Given the description of an element on the screen output the (x, y) to click on. 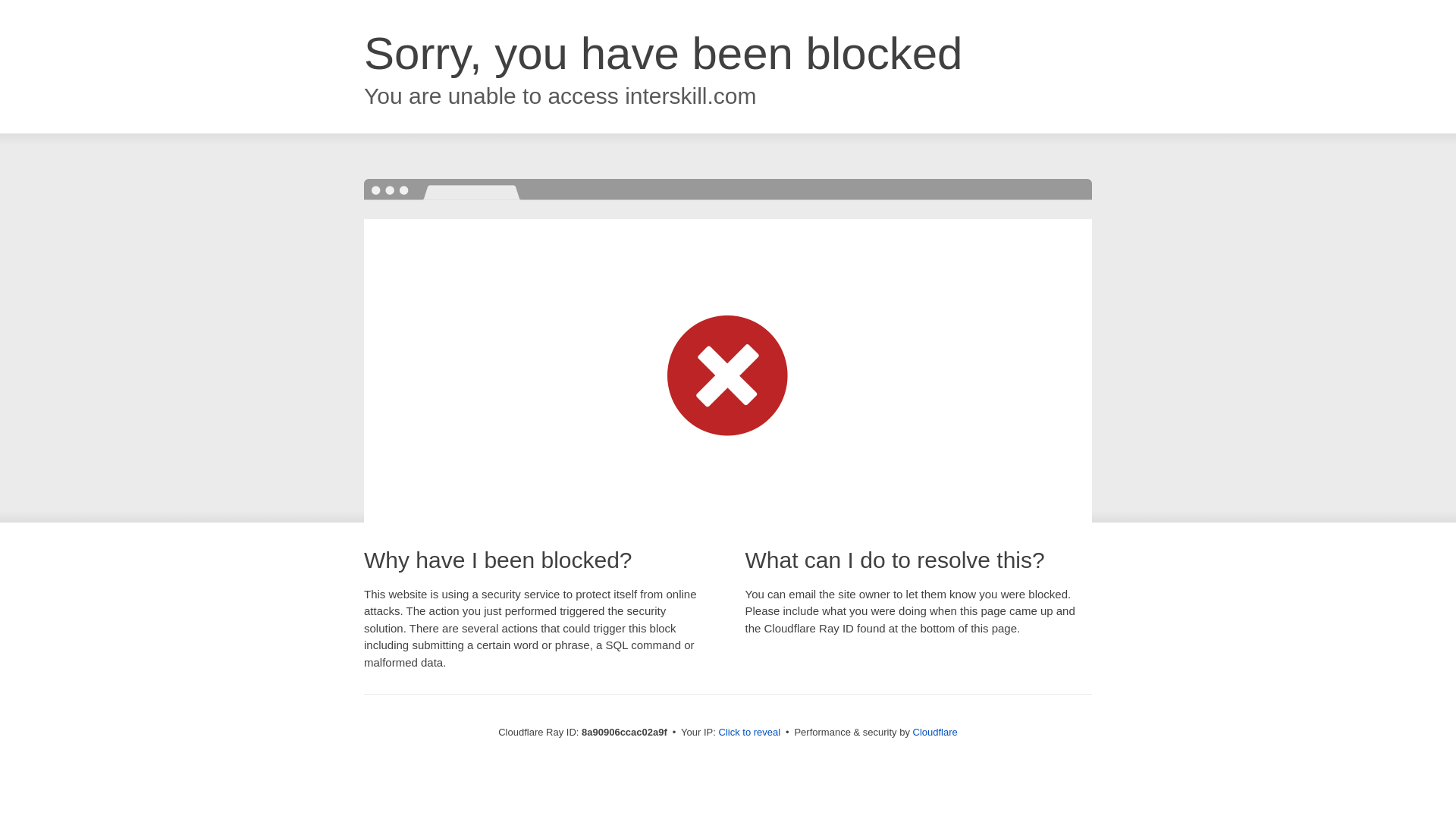
Cloudflare (935, 731)
Click to reveal (749, 732)
